Given the description of an element on the screen output the (x, y) to click on. 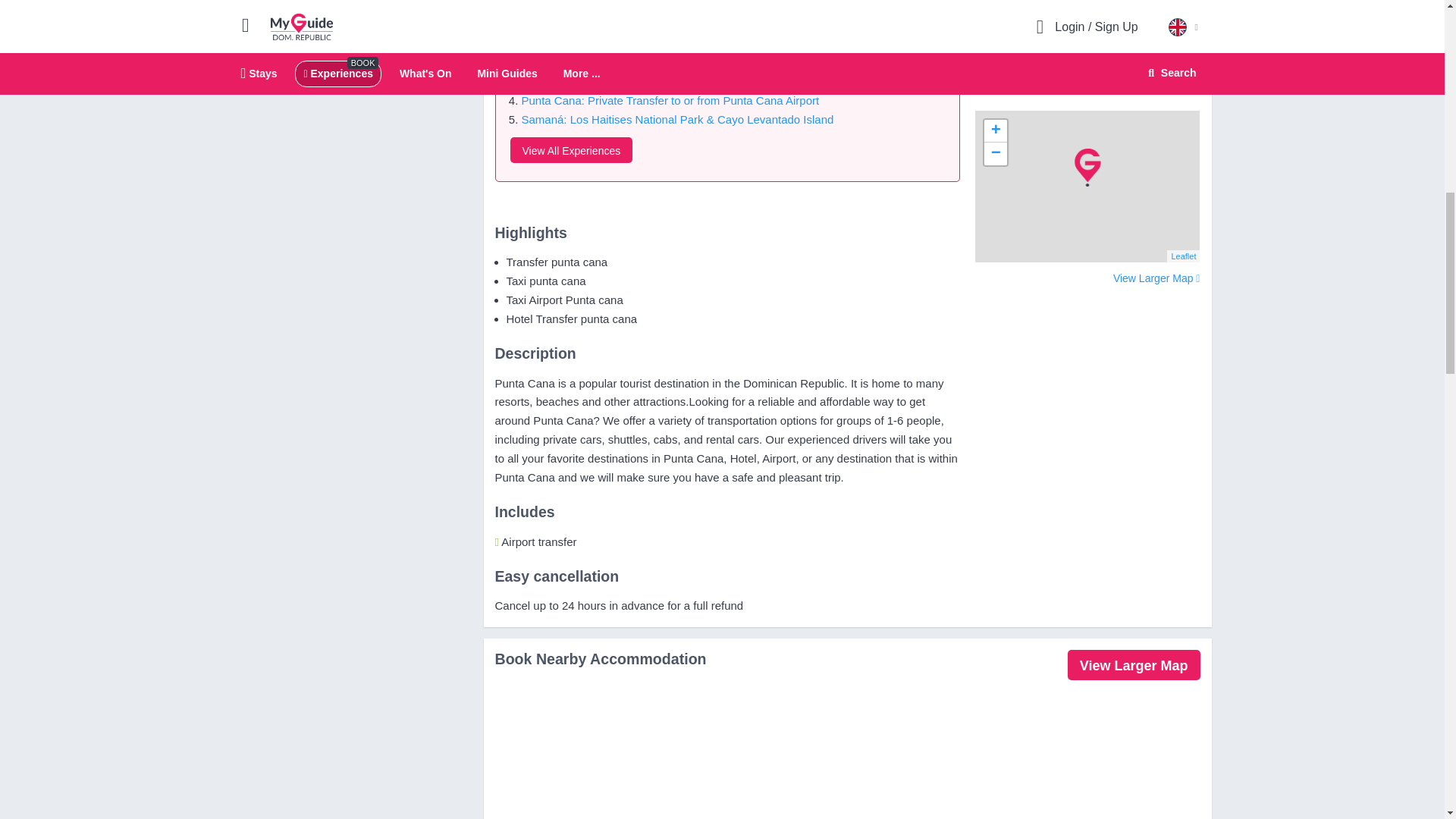
View All Experiences (570, 149)
GetYourGuide Widget (1087, 21)
